Given the description of an element on the screen output the (x, y) to click on. 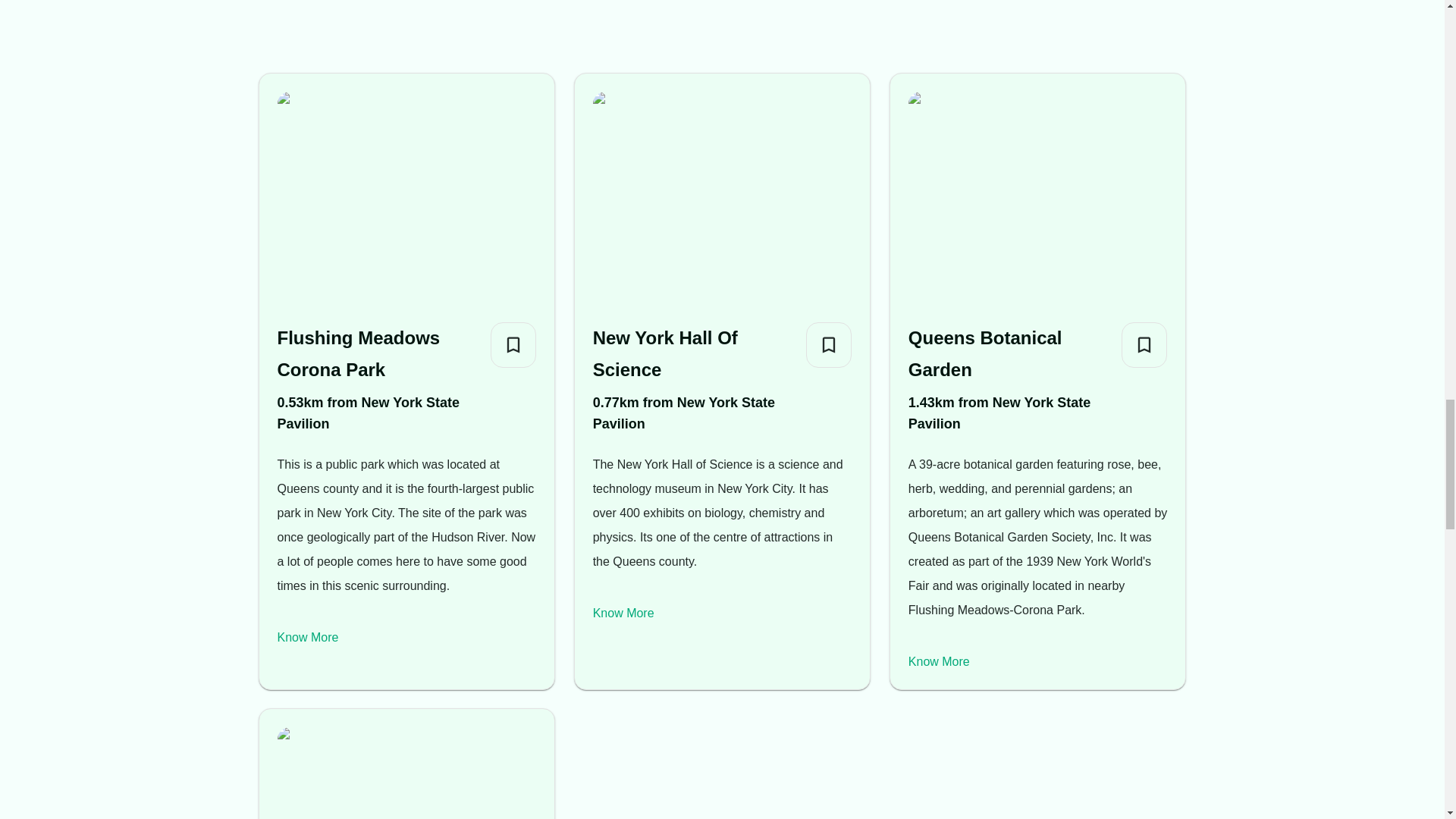
Add to Bucket List (828, 344)
Know More (308, 636)
Add to Bucket List (1144, 344)
Flushing Meadows Corona Park (378, 353)
Add to Bucket List (512, 344)
